Given the description of an element on the screen output the (x, y) to click on. 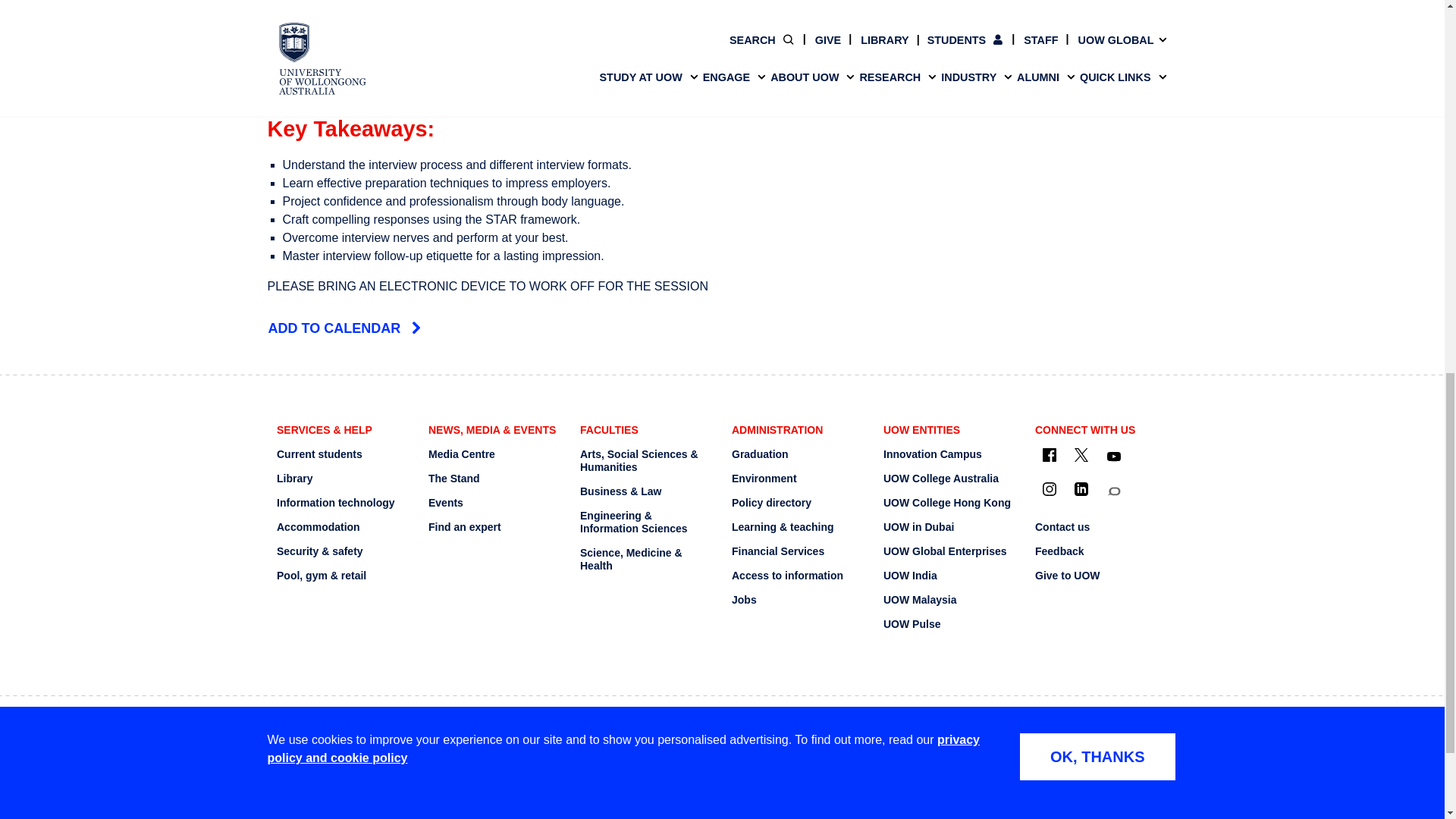
ADD TO CALENDAR (721, 329)
